Given the description of an element on the screen output the (x, y) to click on. 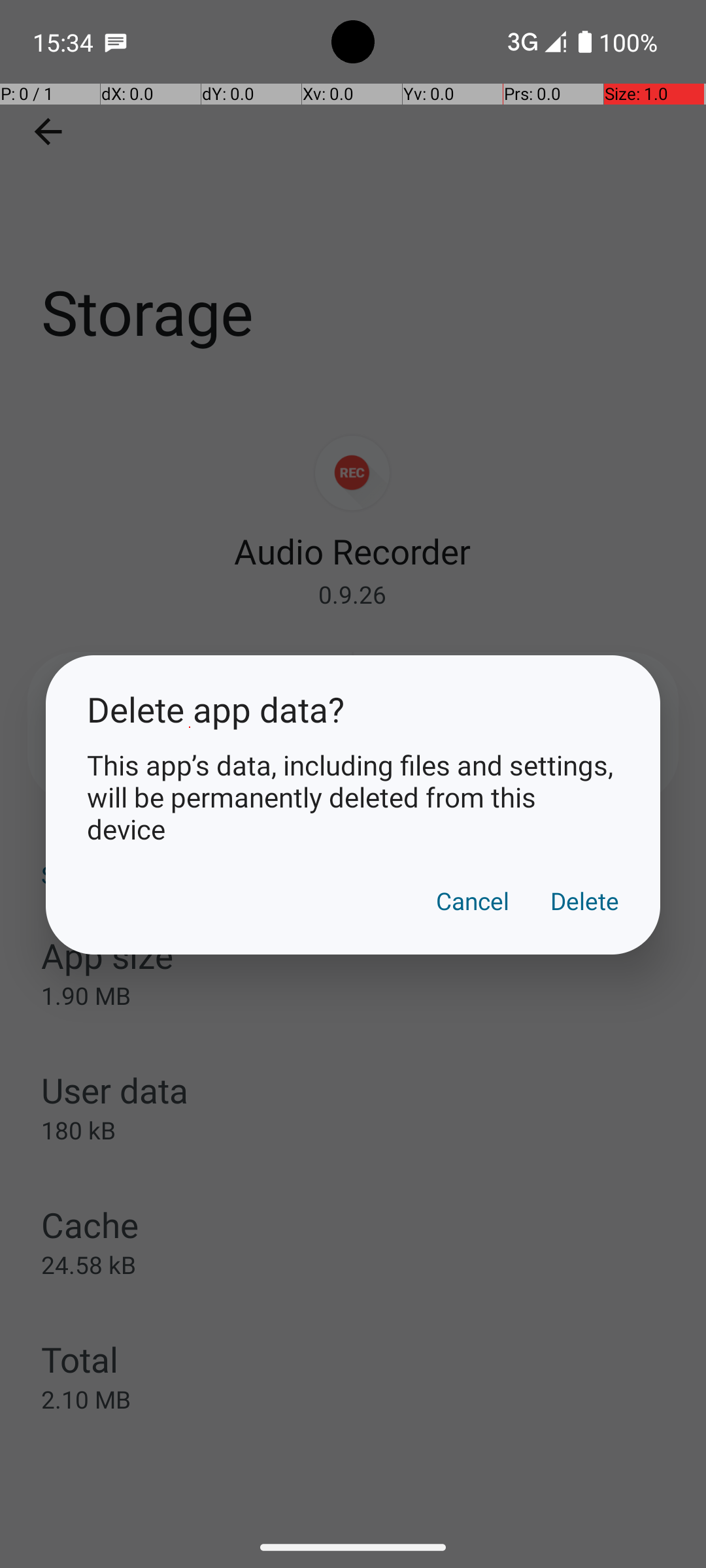
Delete app data? Element type: android.widget.TextView (352, 709)
This app’s data, including files and settings, will be permanently deleted from this device Element type: android.widget.TextView (352, 796)
